Given the description of an element on the screen output the (x, y) to click on. 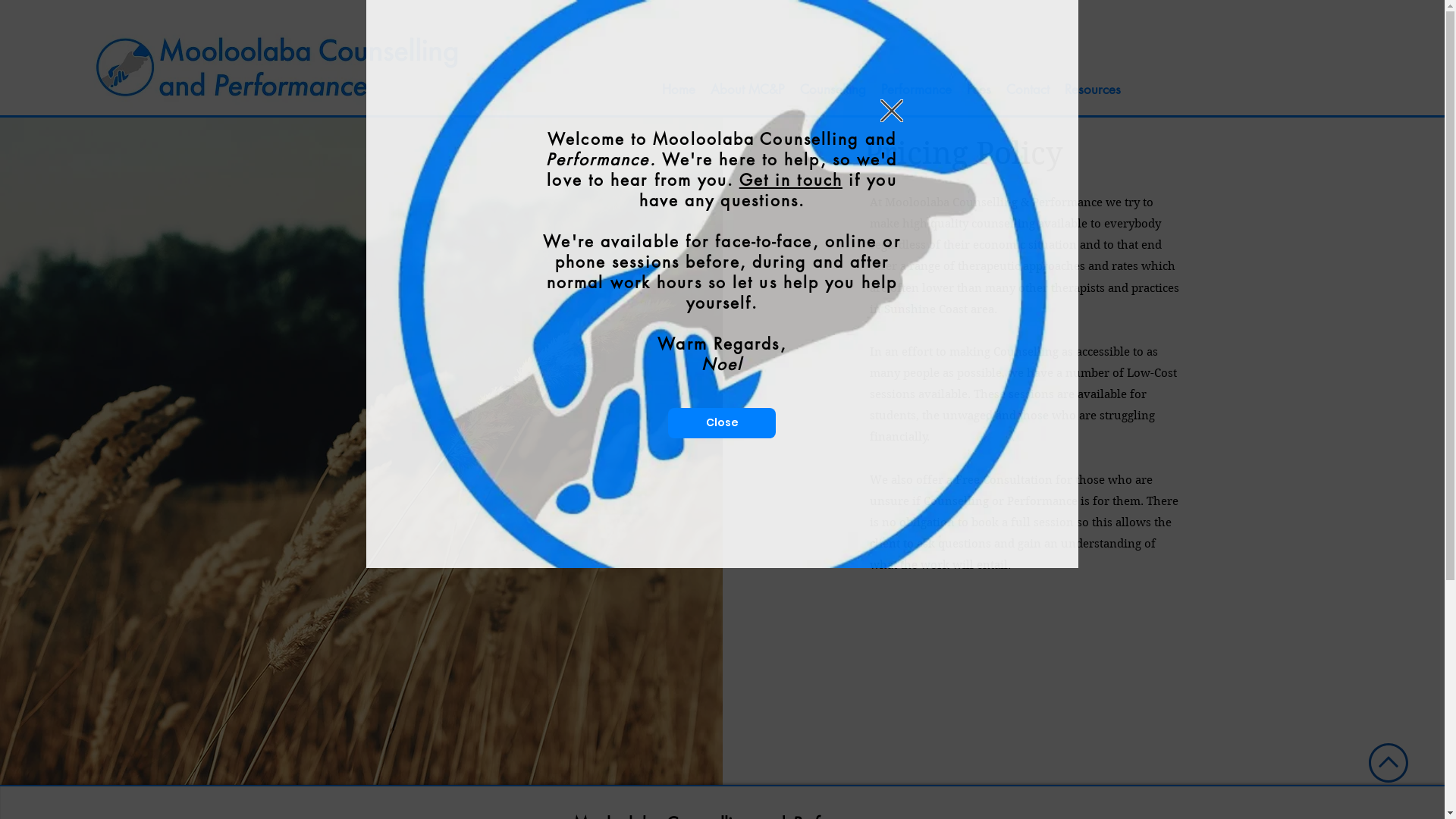
Get in touch Element type: text (790, 179)
Back to site Element type: hover (891, 110)
Counselling Element type: text (831, 89)
Contact Element type: text (1026, 89)
Fees Element type: text (977, 89)
About MC&P Element type: text (746, 89)
Resources Element type: text (1092, 89)
Home Element type: text (677, 89)
Performance Element type: text (916, 89)
